Given the description of an element on the screen output the (x, y) to click on. 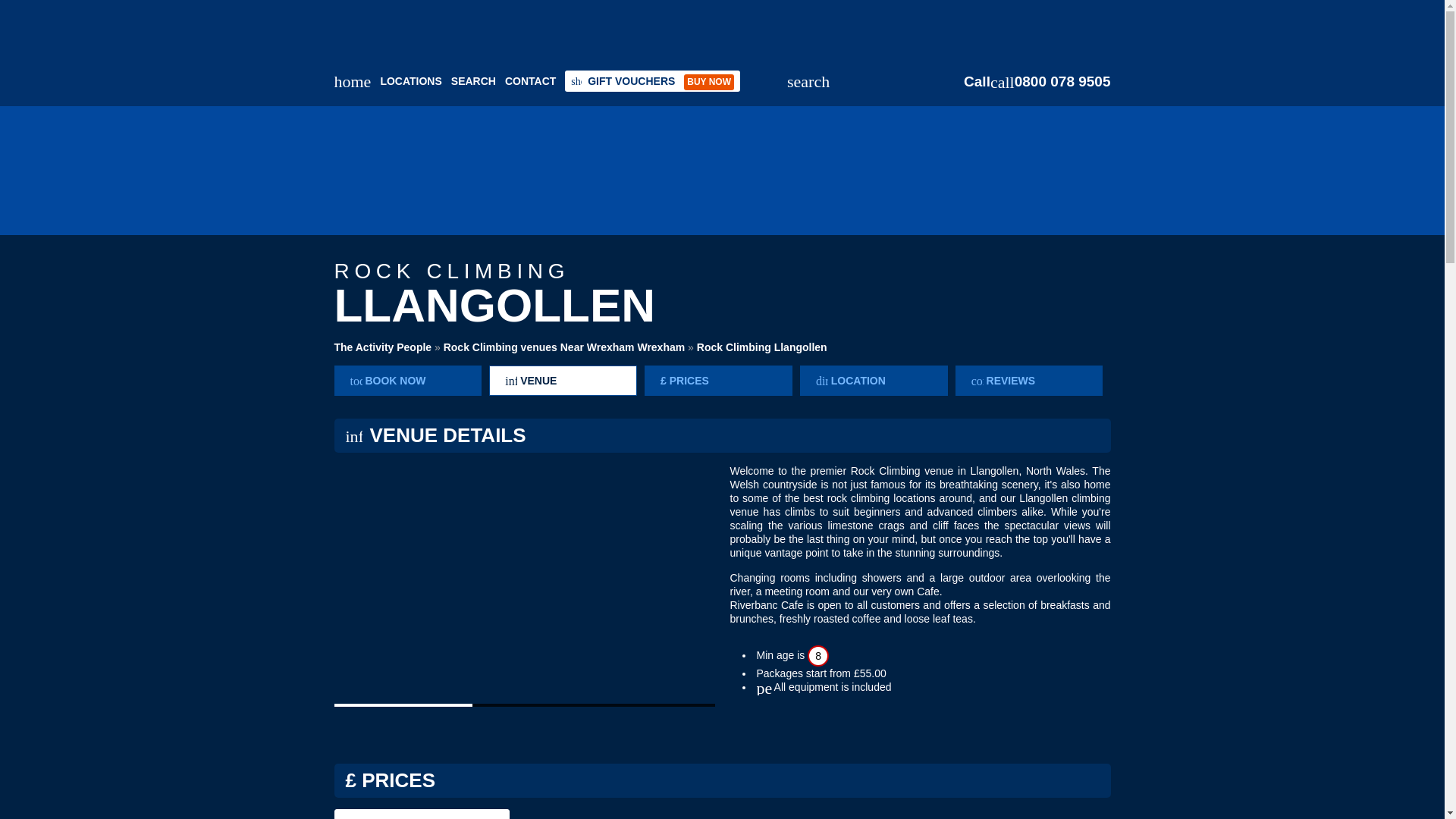
Call 0800 078 9505 (1036, 81)
LOCATIONS (410, 80)
The Activity People (381, 346)
Book Now (407, 380)
Rock Climbing venue Near Wrexham Wrexham (564, 346)
The Activity People (381, 346)
The Activity People Adrenalin Activities (585, 170)
SEARCH (473, 80)
Rock Climbing venues Near Wrexham Wrexham (564, 346)
Package Prices (718, 380)
